Given the description of an element on the screen output the (x, y) to click on. 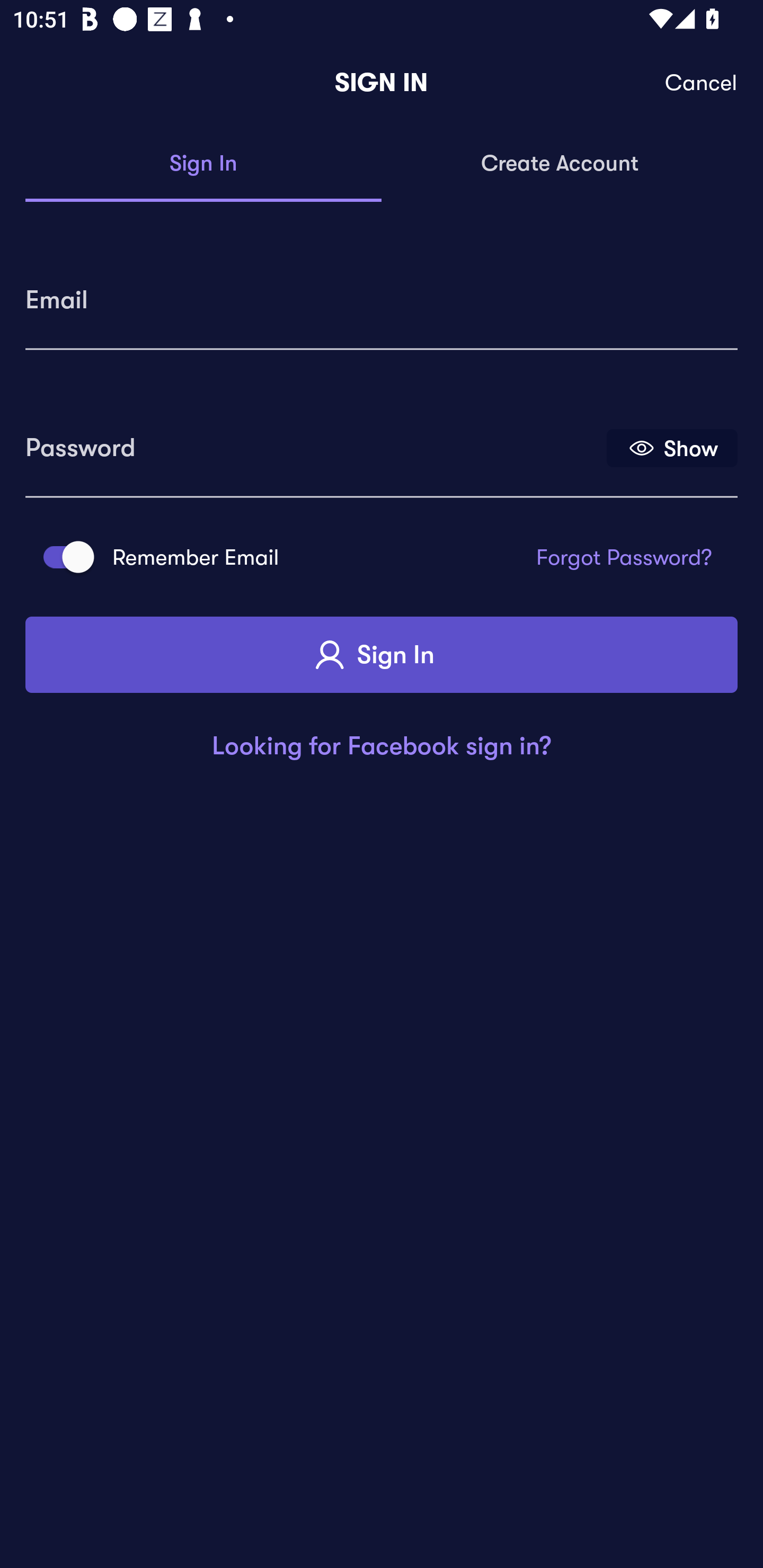
Cancel (701, 82)
Sign In (203, 164)
Create Account (559, 164)
Email (381, 293)
Password (314, 441)
Show Password Show (671, 447)
Remember Email (62, 557)
Sign In (381, 654)
